Given the description of an element on the screen output the (x, y) to click on. 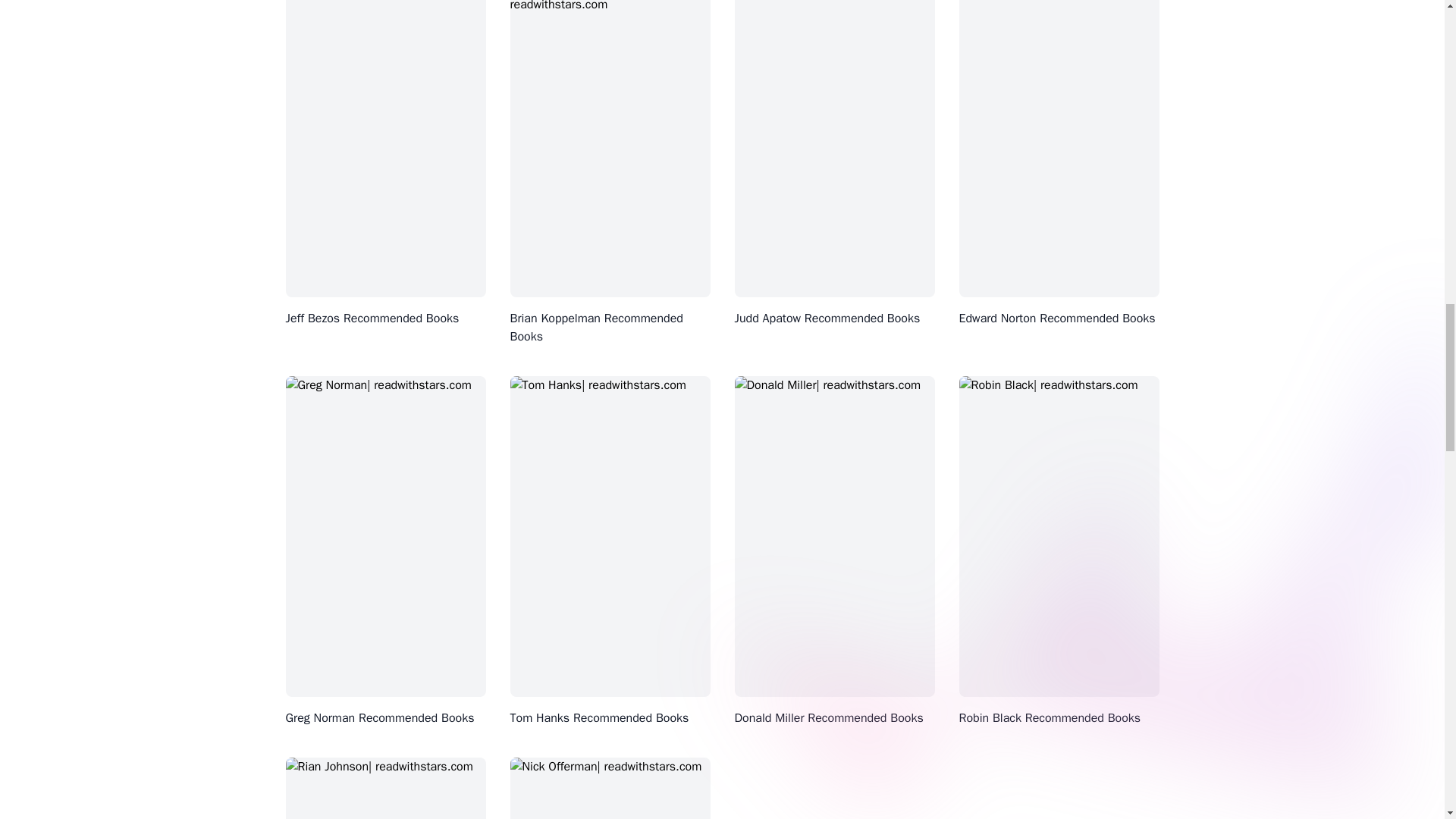
Brian Koppelman Recommended Books (595, 327)
Judd Apatow Recommended Books (826, 318)
Edward Norton Recommended Books (1056, 318)
Jeff Bezos Recommended Books (371, 318)
